Given the description of an element on the screen output the (x, y) to click on. 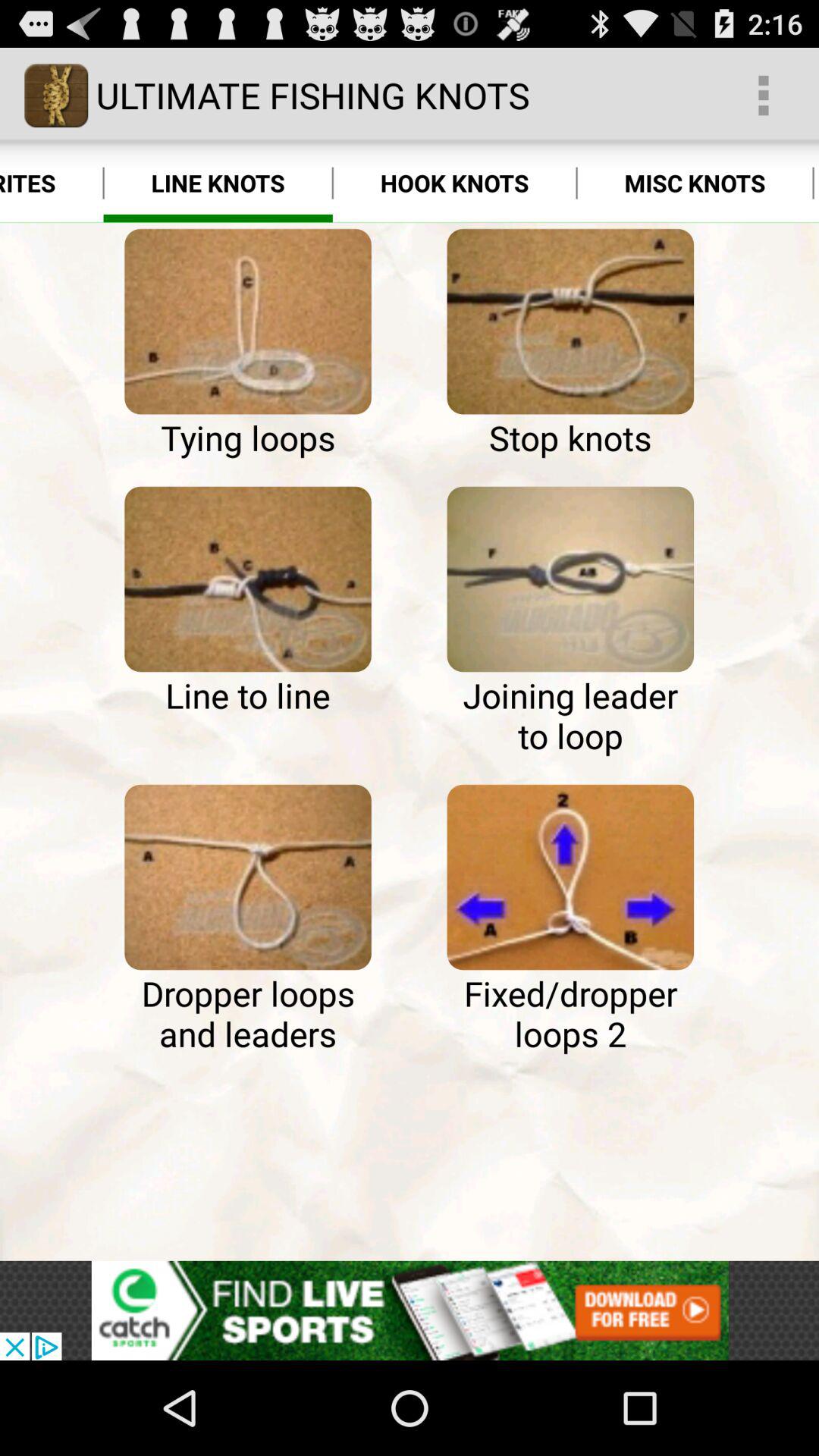
open details of subject (570, 578)
